Given the description of an element on the screen output the (x, y) to click on. 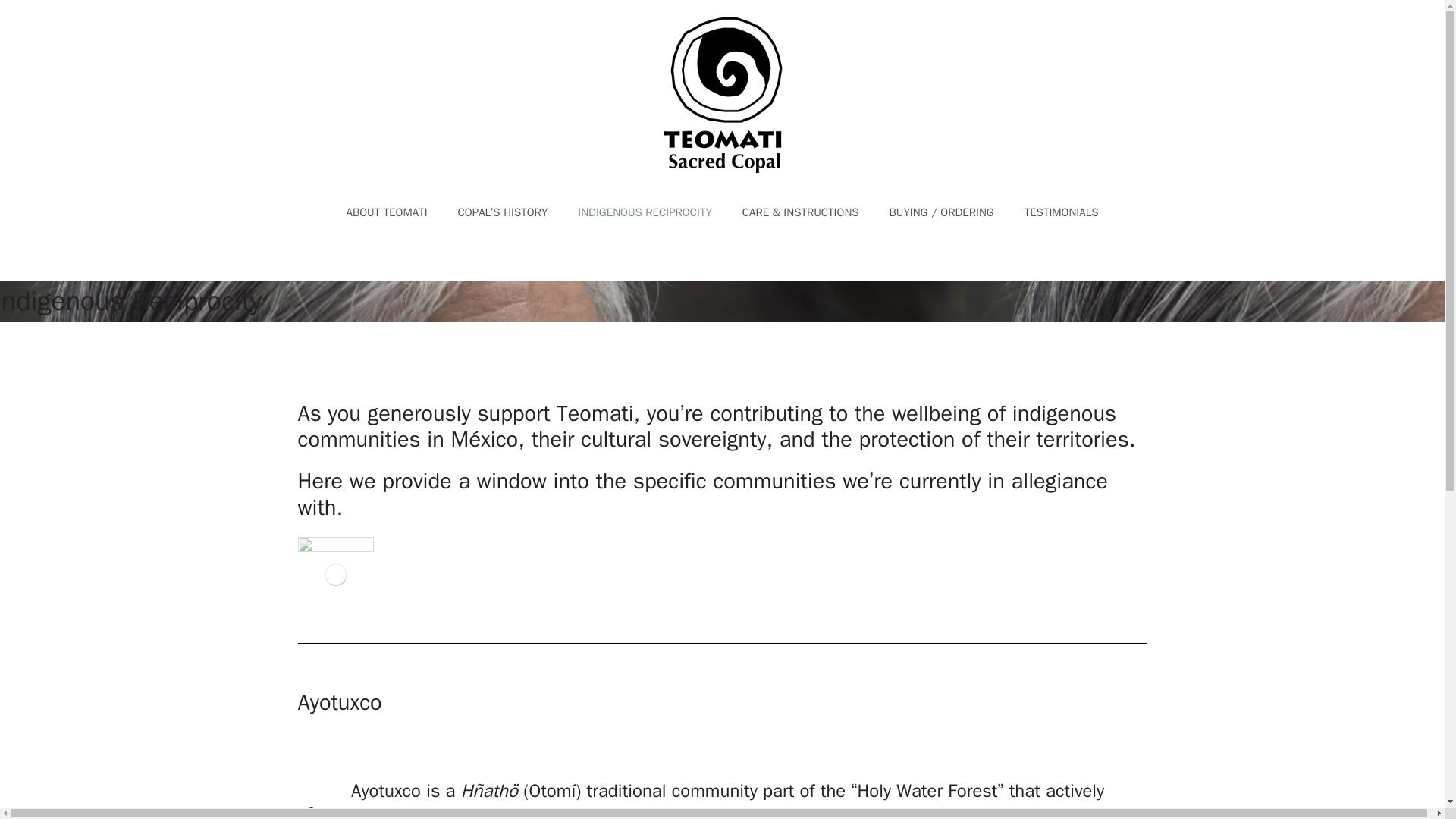
1 (311, 810)
2 (311, 816)
ABOUT TEOMATI (386, 212)
TESTIMONIALS (1061, 212)
INDIGENOUS RECIPROCITY (644, 212)
